Given the description of an element on the screen output the (x, y) to click on. 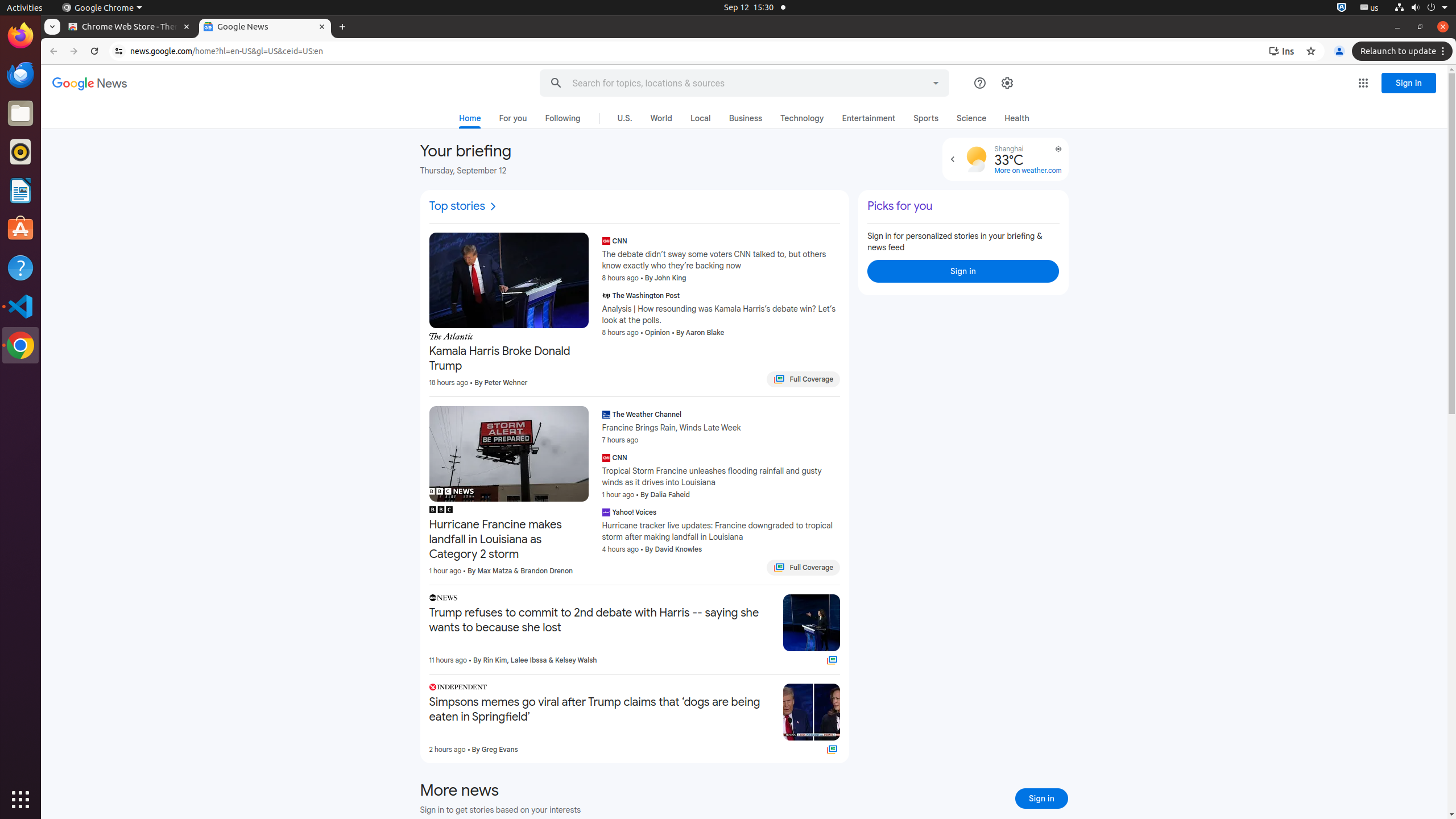
More - Trump refuses to commit to 2nd debate with Harris -- saying she wants to because she lost Element type: push-button (770, 599)
Search Element type: push-button (555, 82)
World Element type: menu-item (661, 118)
Trump refuses to commit to 2nd debate with Harris -- saying she wants to because she lost Element type: link (601, 620)
Sign in Element type: link (1041, 798)
